Given the description of an element on the screen output the (x, y) to click on. 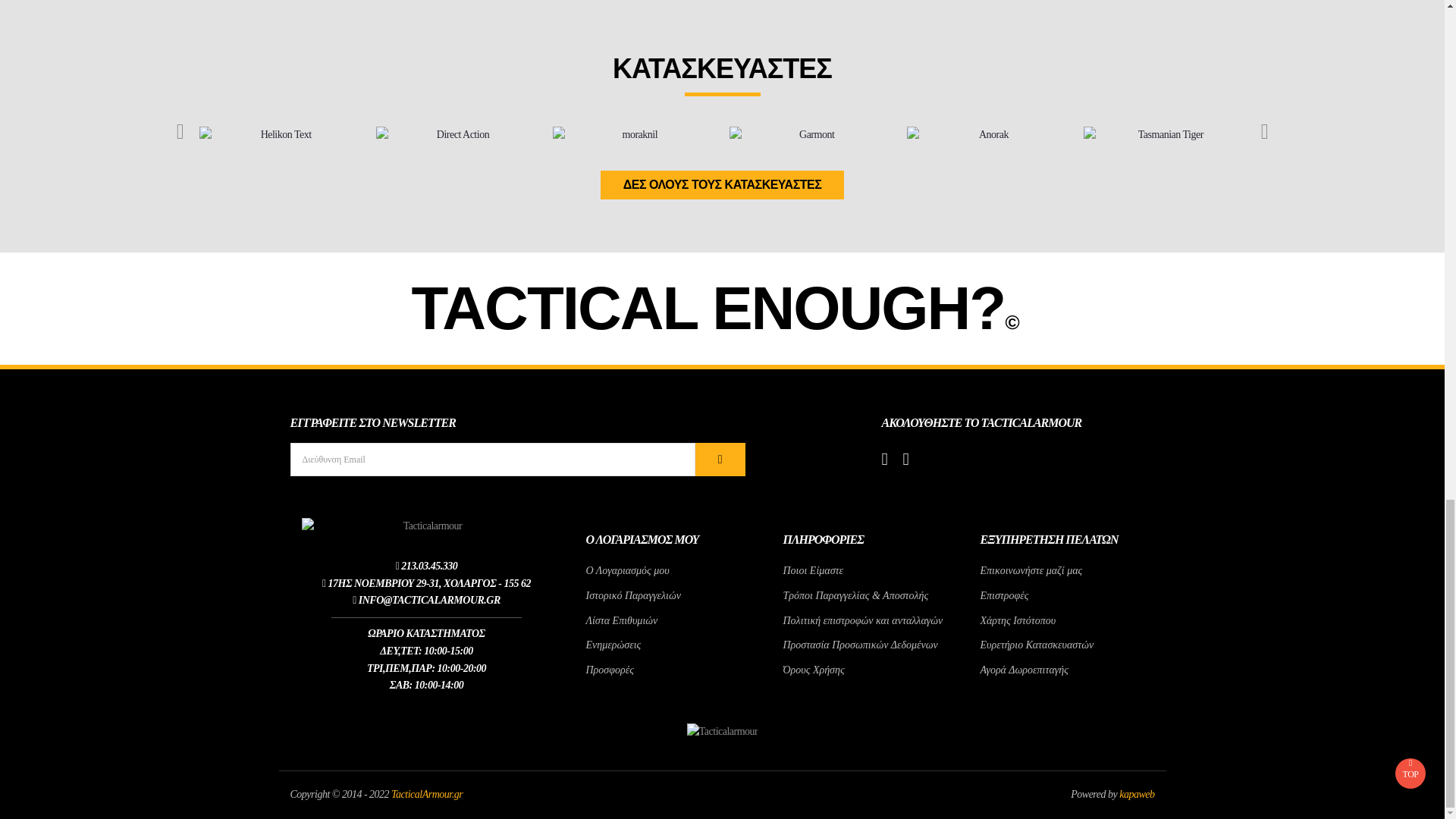
Tacticalarmour (722, 732)
Tacticalarmour (426, 526)
